Given the description of an element on the screen output the (x, y) to click on. 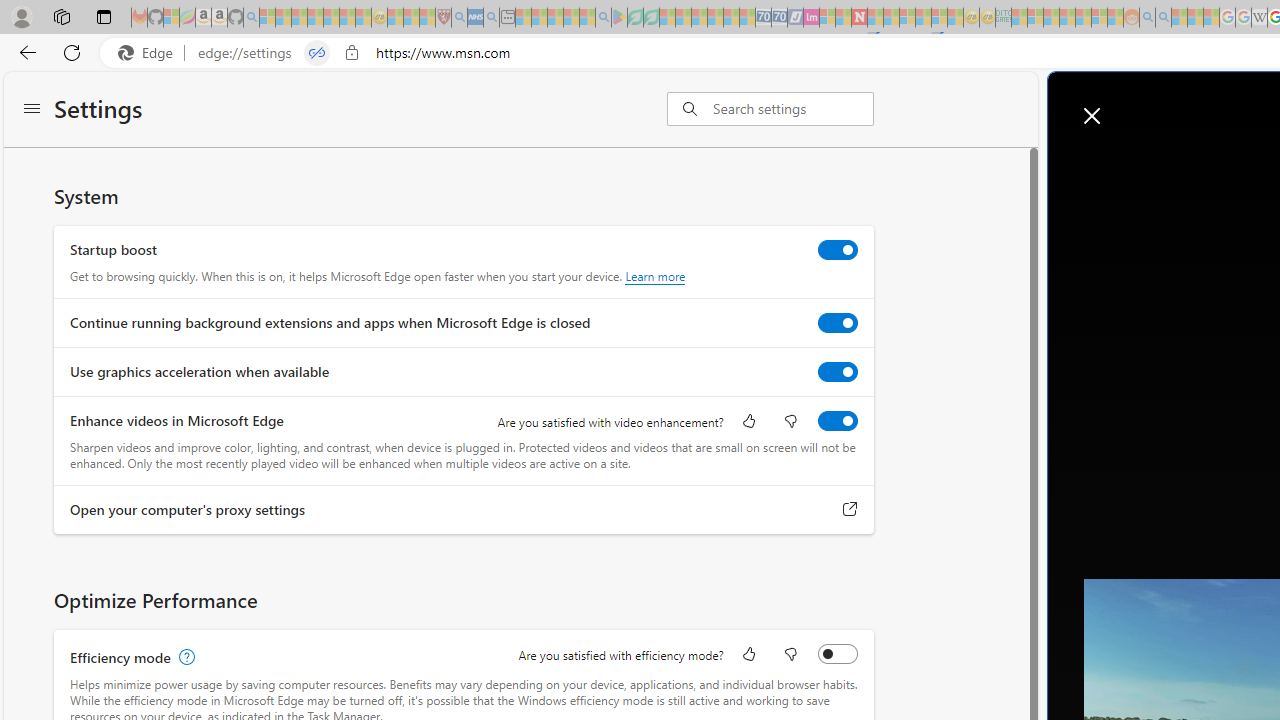
utah sues federal government - Search - Sleeping (491, 17)
Startup boost (837, 249)
